Given the description of an element on the screen output the (x, y) to click on. 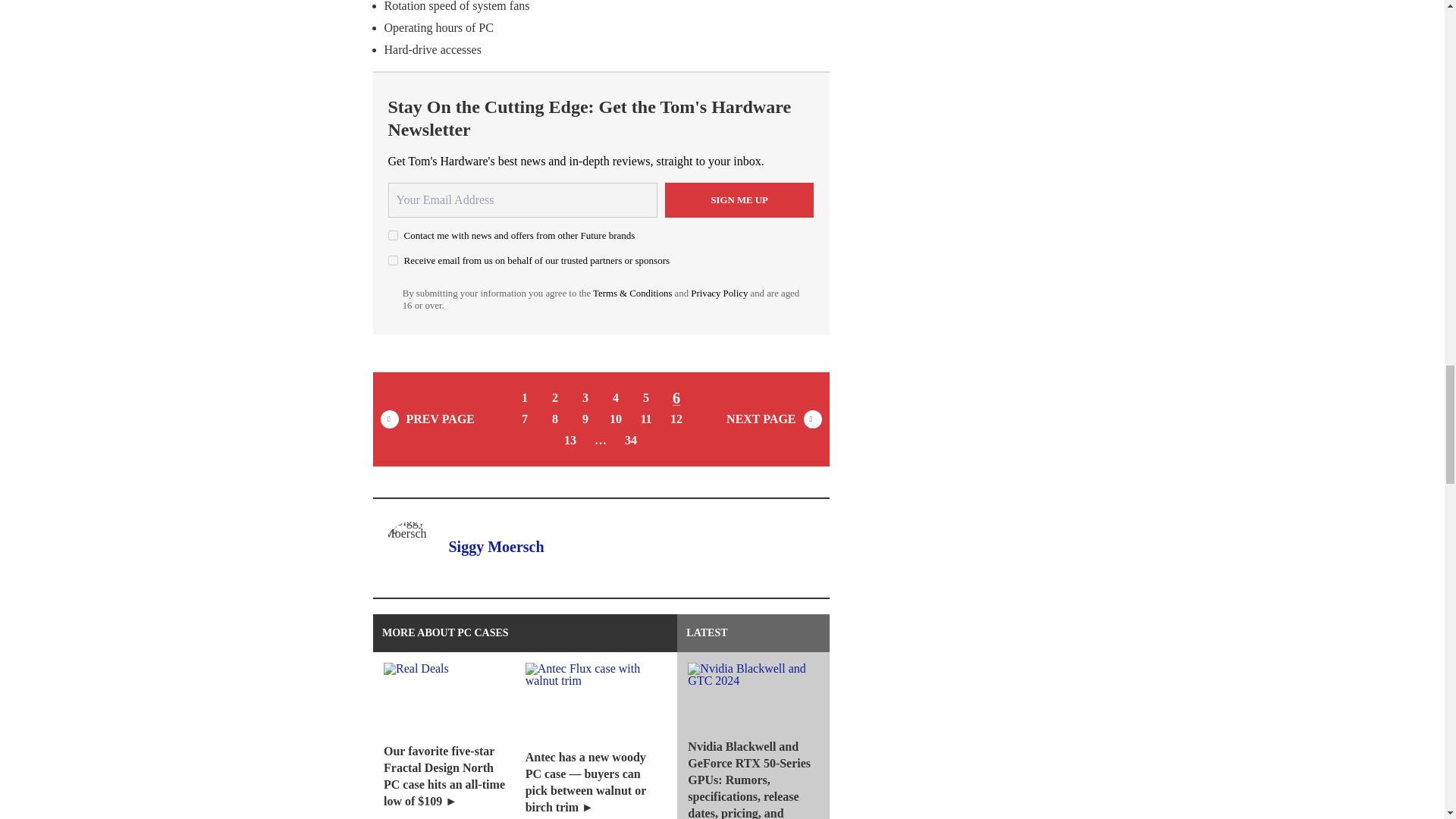
on (392, 260)
Sign me up (739, 199)
on (392, 235)
